Given the description of an element on the screen output the (x, y) to click on. 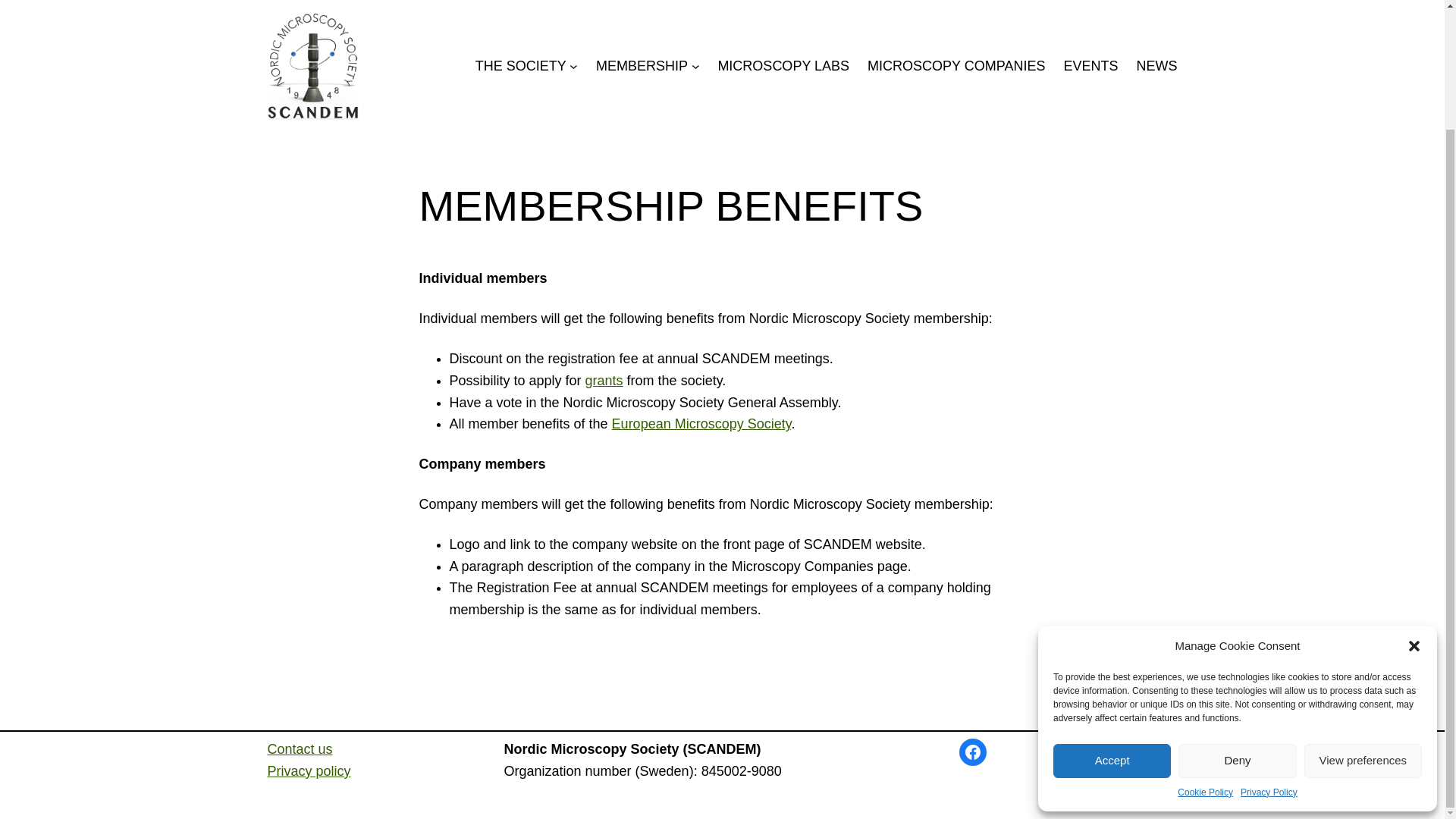
grants (604, 380)
Privacy Policy (1268, 649)
View preferences (1363, 618)
NEWS (1155, 65)
Cookie Policy (1205, 649)
Privacy policy (308, 770)
EVENTS (1090, 65)
Deny (1236, 618)
MICROSCOPY LABS (782, 65)
MEMBERSHIP (641, 65)
